Given the description of an element on the screen output the (x, y) to click on. 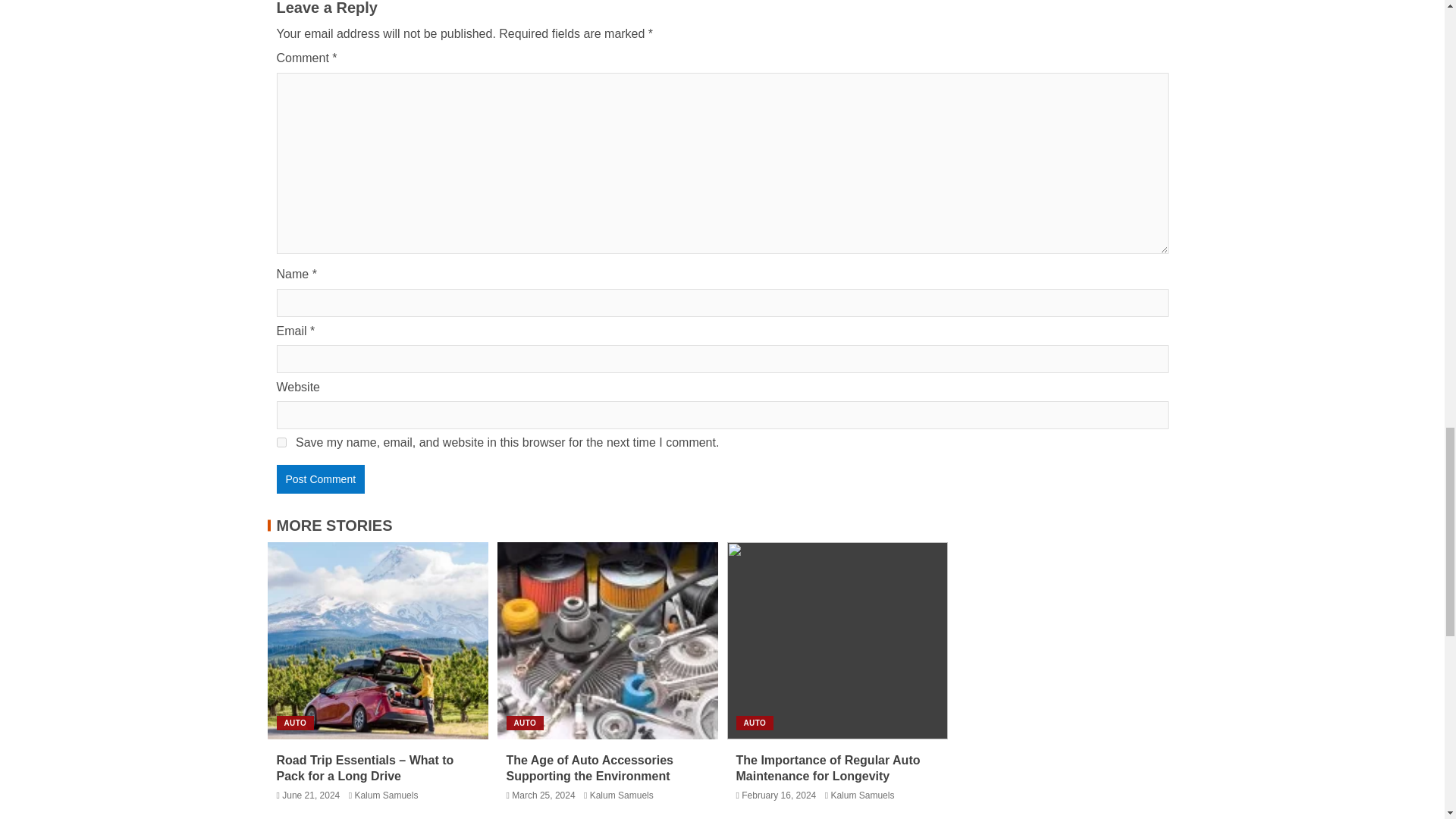
Kalum Samuels (621, 795)
The Age of Auto Accessories Supporting the Environment (590, 767)
Post Comment (320, 479)
AUTO (754, 722)
Kalum Samuels (385, 795)
AUTO (525, 722)
Kalum Samuels (861, 795)
The Importance of Regular Auto Maintenance for Longevity (827, 767)
Post Comment (320, 479)
AUTO (295, 722)
yes (280, 442)
